Given the description of an element on the screen output the (x, y) to click on. 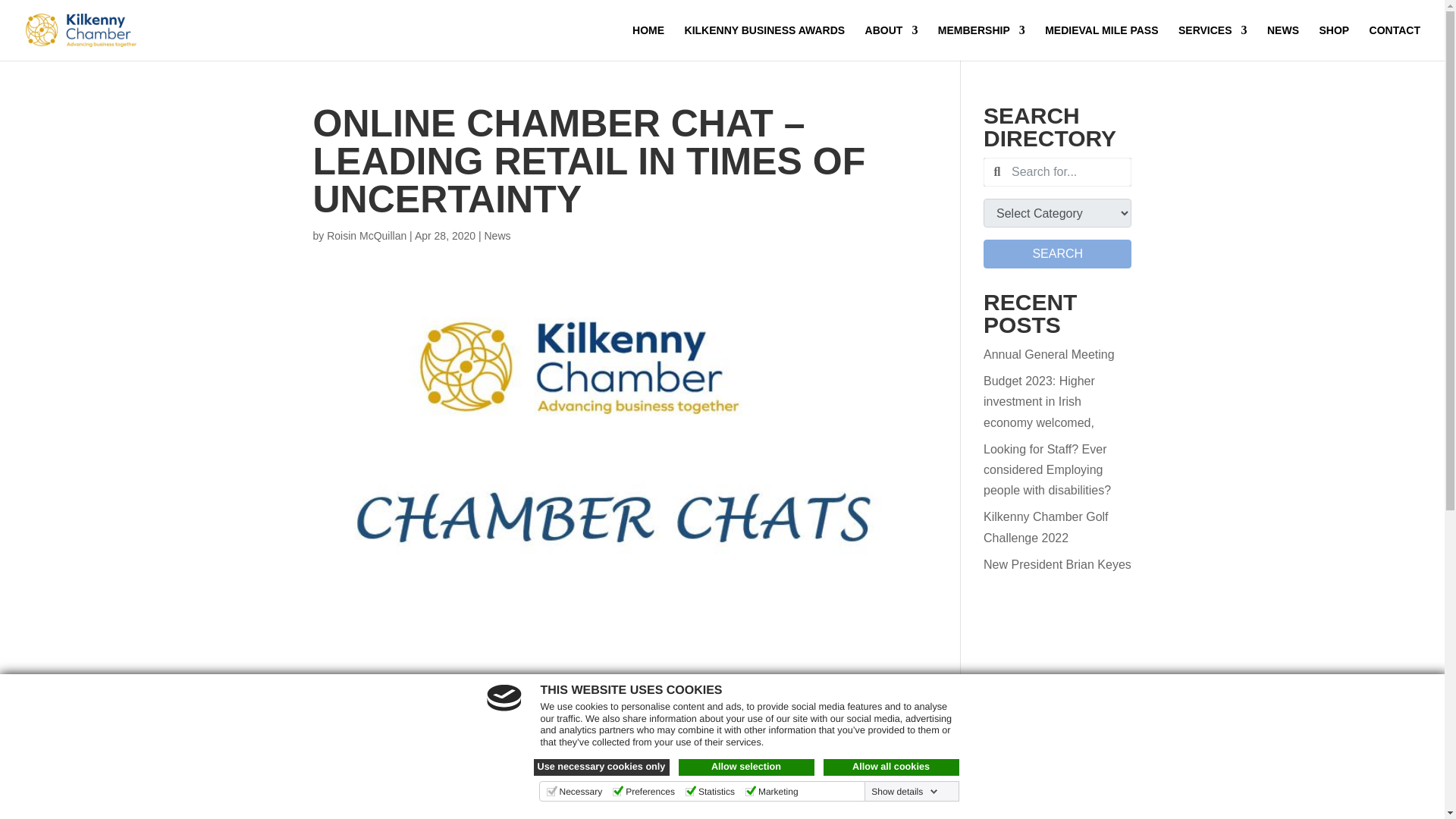
Allow selection (745, 767)
Use necessary cookies only (601, 767)
Allow all cookies (891, 767)
Show details (903, 791)
